Given the description of an element on the screen output the (x, y) to click on. 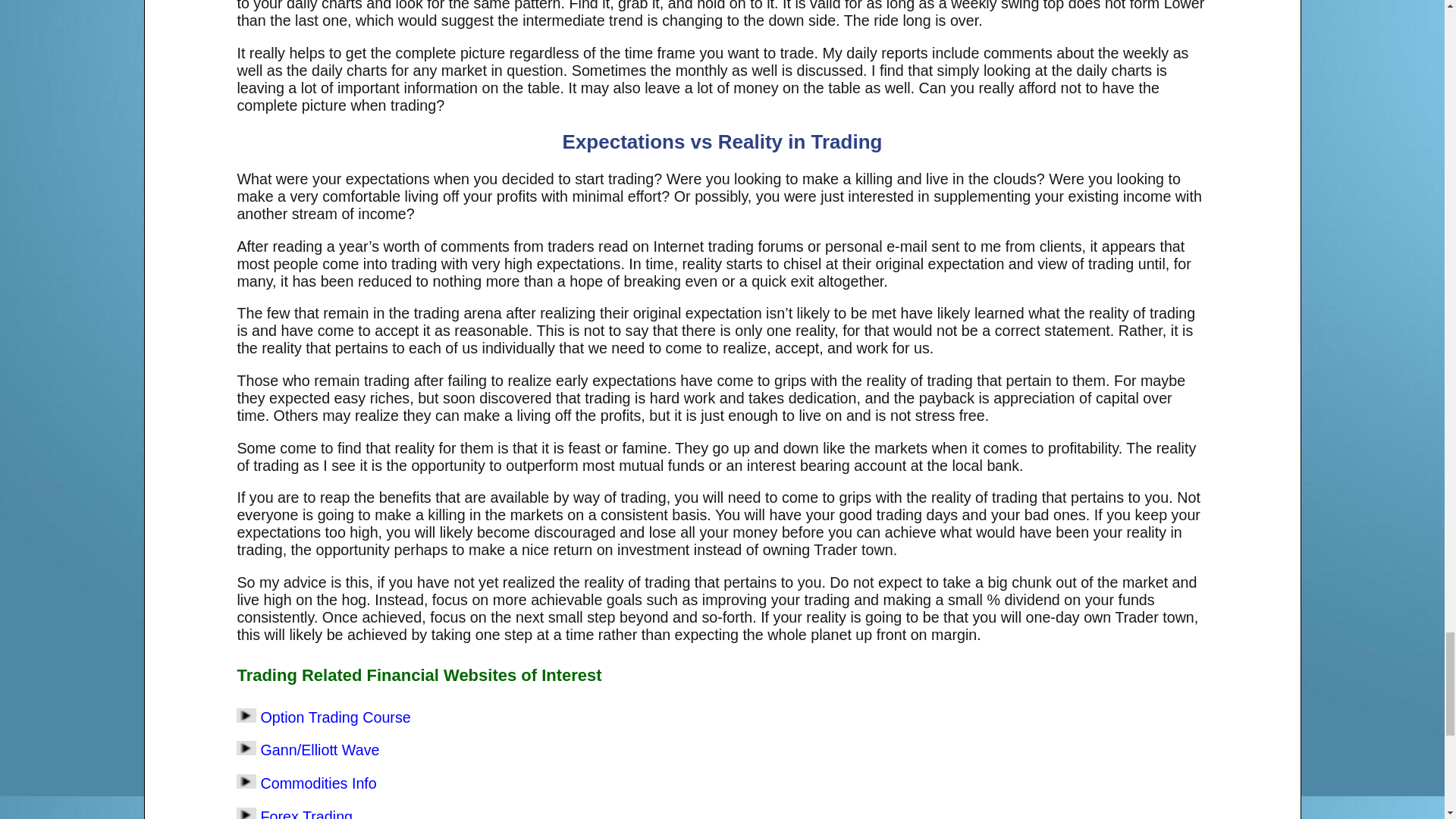
Forex Trading (306, 813)
Commodities Info (317, 782)
Option Trading Course (335, 717)
